Given the description of an element on the screen output the (x, y) to click on. 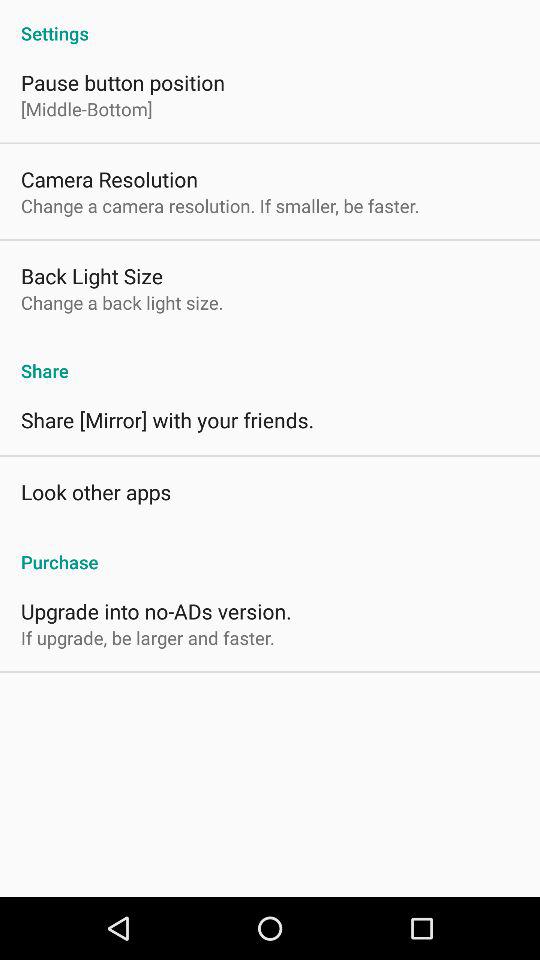
scroll until the share mirror with (167, 419)
